Given the description of an element on the screen output the (x, y) to click on. 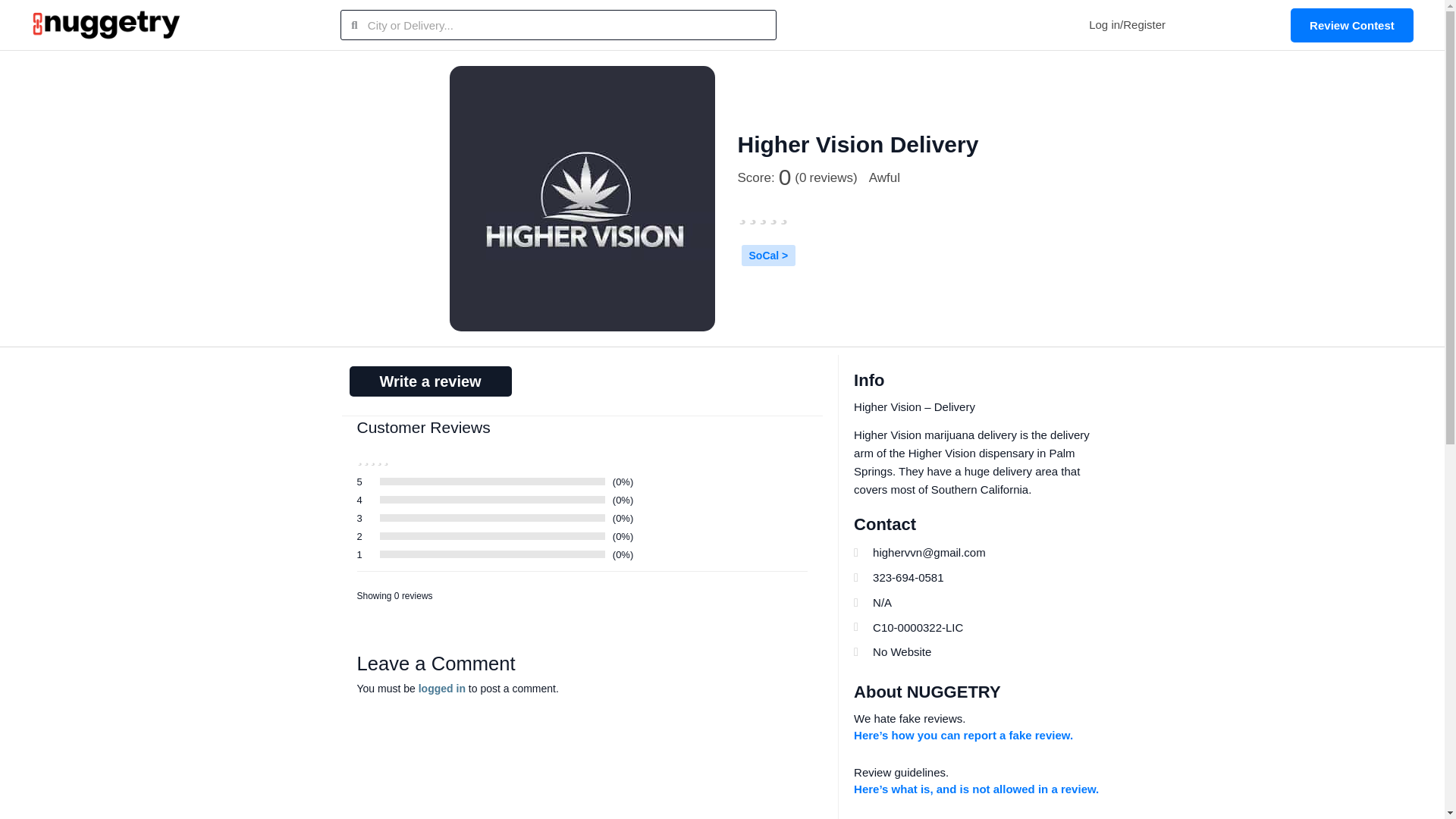
Write a review (430, 381)
Higher Vision Dispensary Logo (581, 198)
logged in (442, 688)
Review Contest (1351, 24)
